Given the description of an element on the screen output the (x, y) to click on. 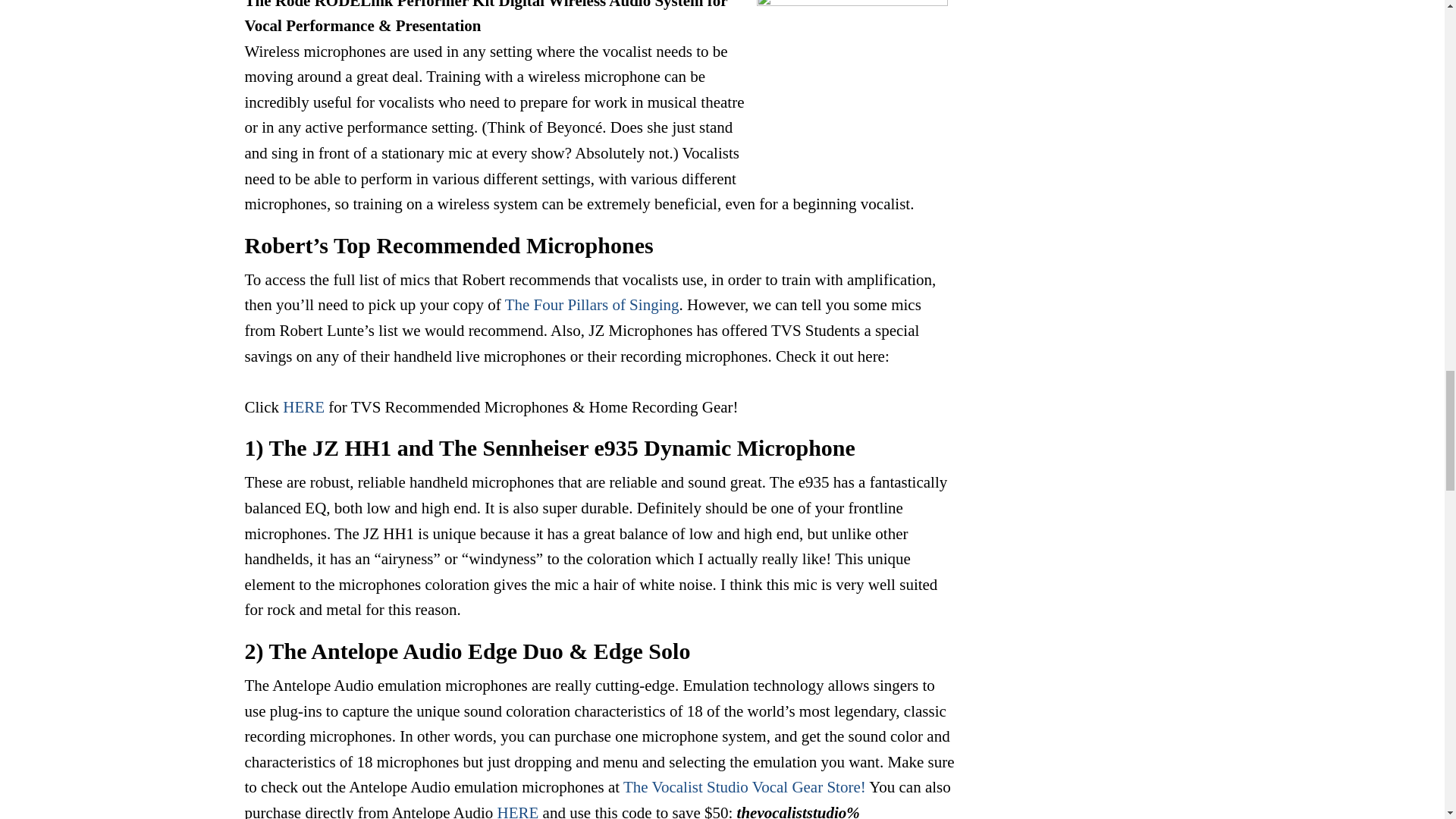
HERE (517, 811)
The Vocalist Studio Vocal Gear Store! (744, 787)
HERE (303, 407)
The Four Pillars of Singing (592, 304)
